Given the description of an element on the screen output the (x, y) to click on. 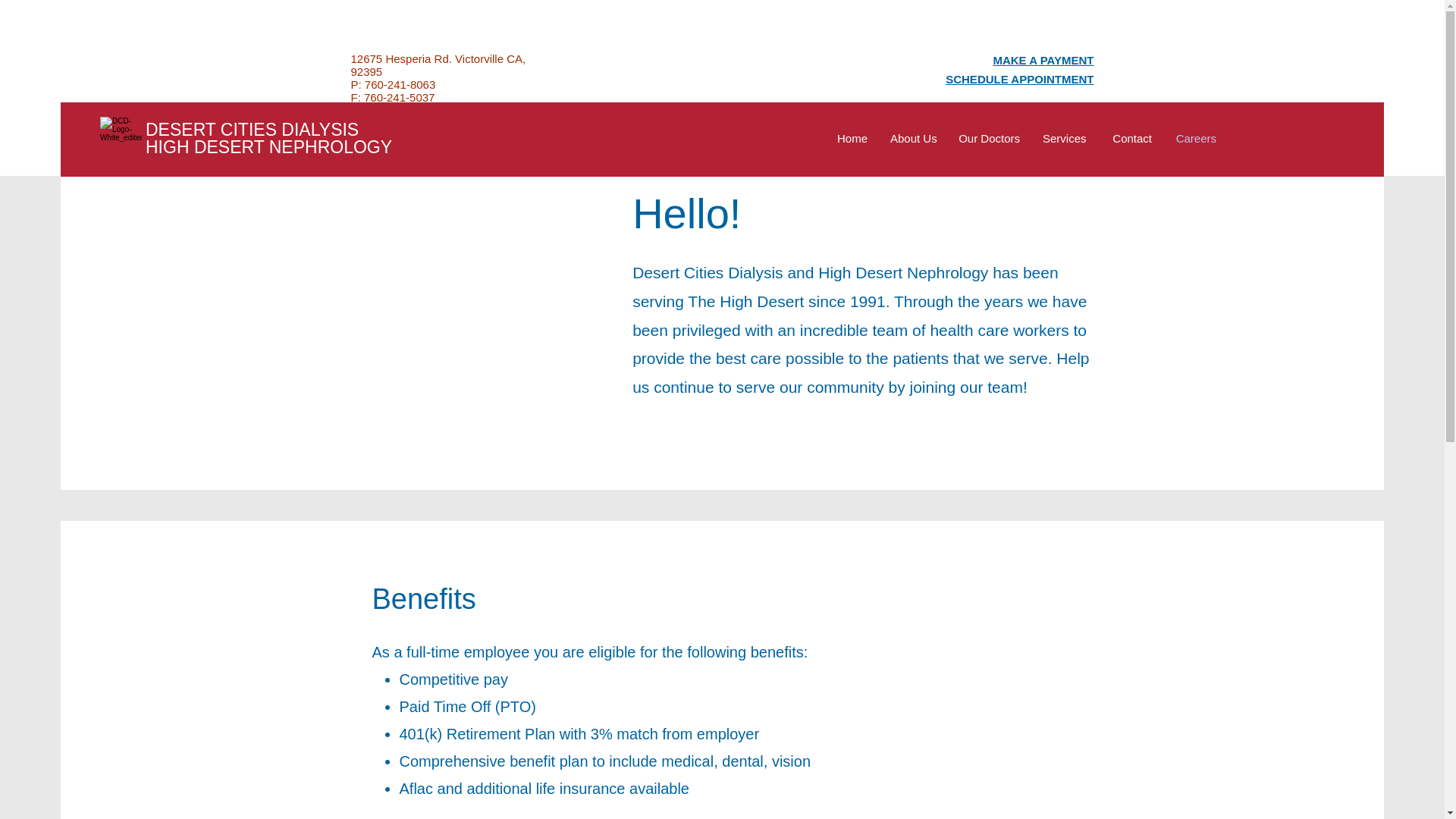
DESERT CITIES DIALYSIS (251, 129)
About Us (913, 138)
MAKE A PAYMENT (1042, 60)
Contact (1130, 138)
Our Doctors (988, 138)
Home (852, 138)
SCHEDULE APPOINTMENT (1018, 78)
Services (1063, 138)
Careers (1195, 138)
